Given the description of an element on the screen output the (x, y) to click on. 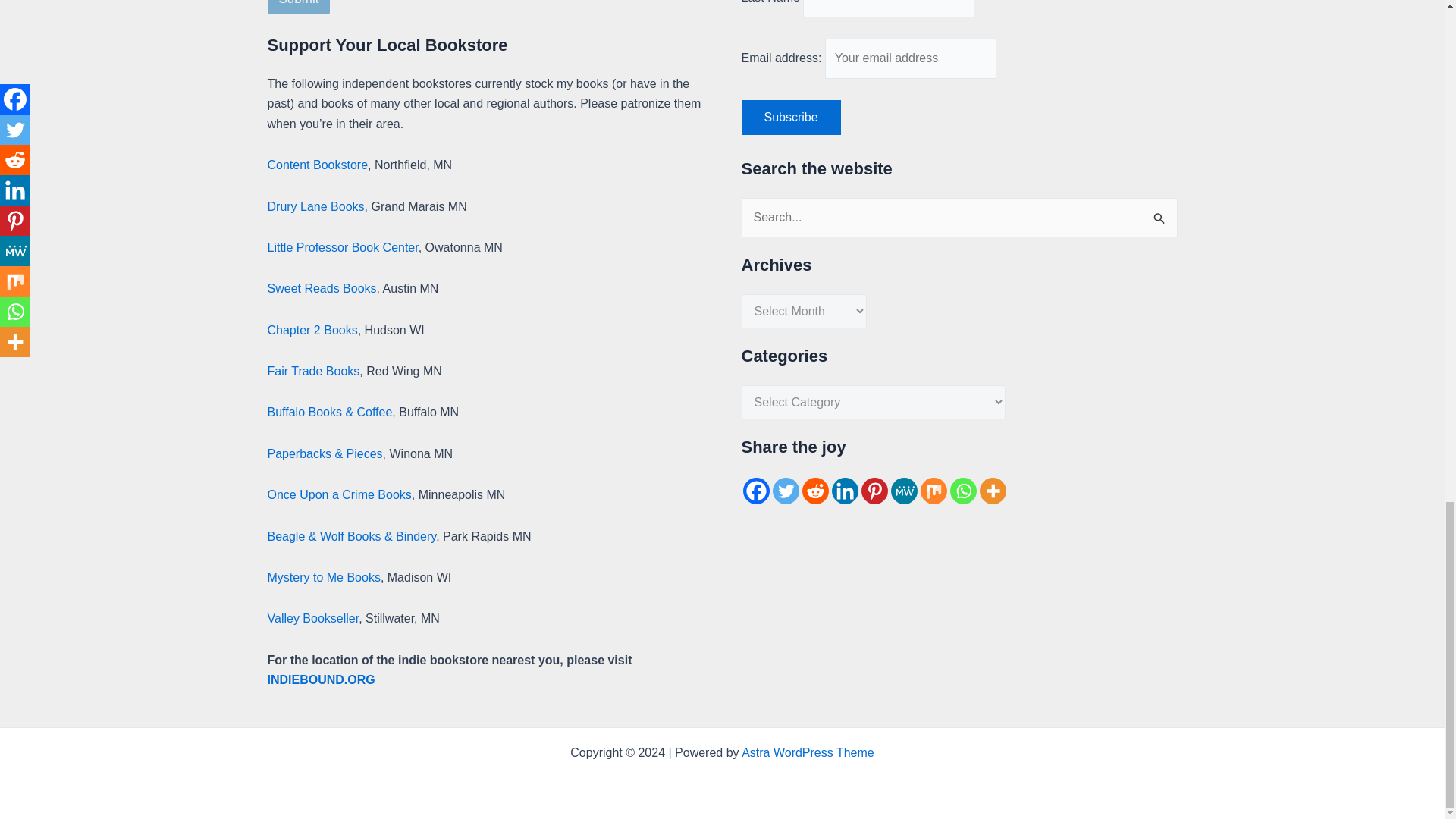
Subscribe (791, 117)
Facebook (756, 490)
Linkedin (844, 490)
Reddit (815, 490)
Search (1159, 214)
Twitter (784, 490)
Search (1159, 214)
